Given the description of an element on the screen output the (x, y) to click on. 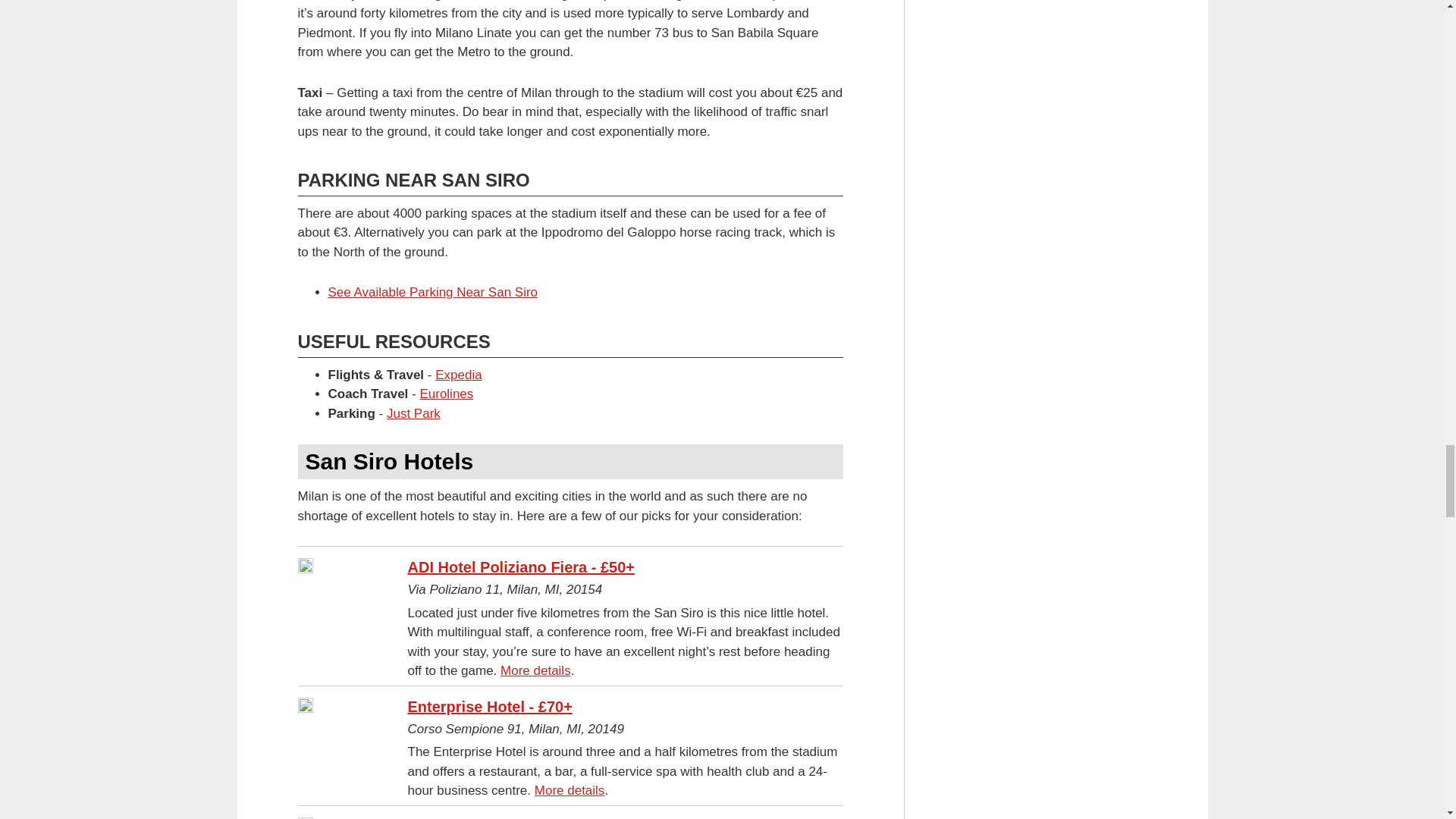
Expedia (458, 374)
Just Park (414, 413)
Eurolines (446, 393)
More details (569, 789)
More details (535, 670)
See Available Parking Near San Siro (432, 292)
